Given the description of an element on the screen output the (x, y) to click on. 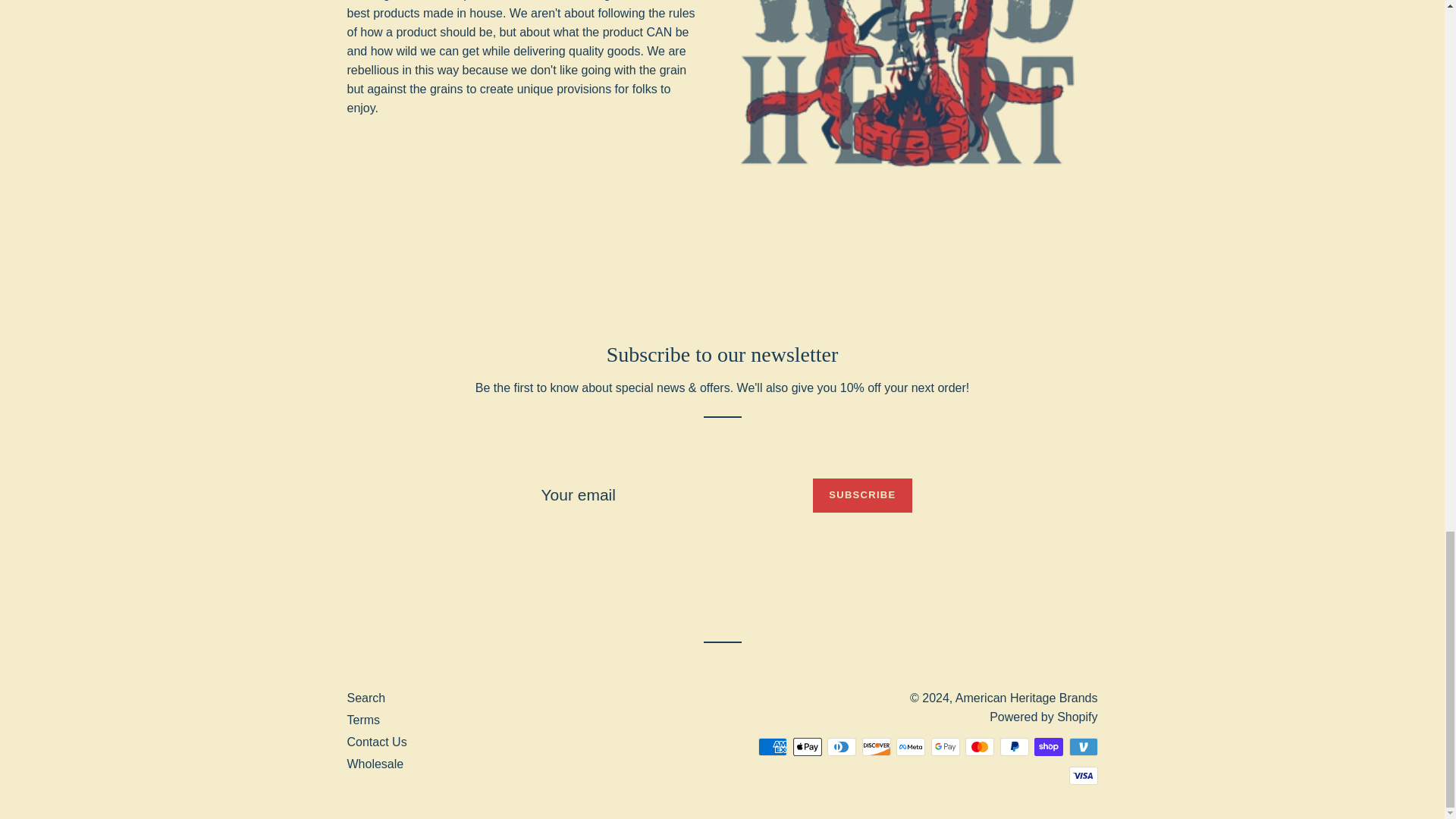
Visa (1082, 775)
Contact Us (377, 741)
Search (366, 697)
American Express (772, 746)
Venmo (1082, 746)
Discover (875, 746)
Terms (363, 719)
Google Pay (945, 746)
SUBSCRIBE (861, 495)
Diners Club (841, 746)
Apple Pay (807, 746)
Shop Pay (1047, 746)
PayPal (1012, 746)
Mastercard (979, 746)
Meta Pay (910, 746)
